Given the description of an element on the screen output the (x, y) to click on. 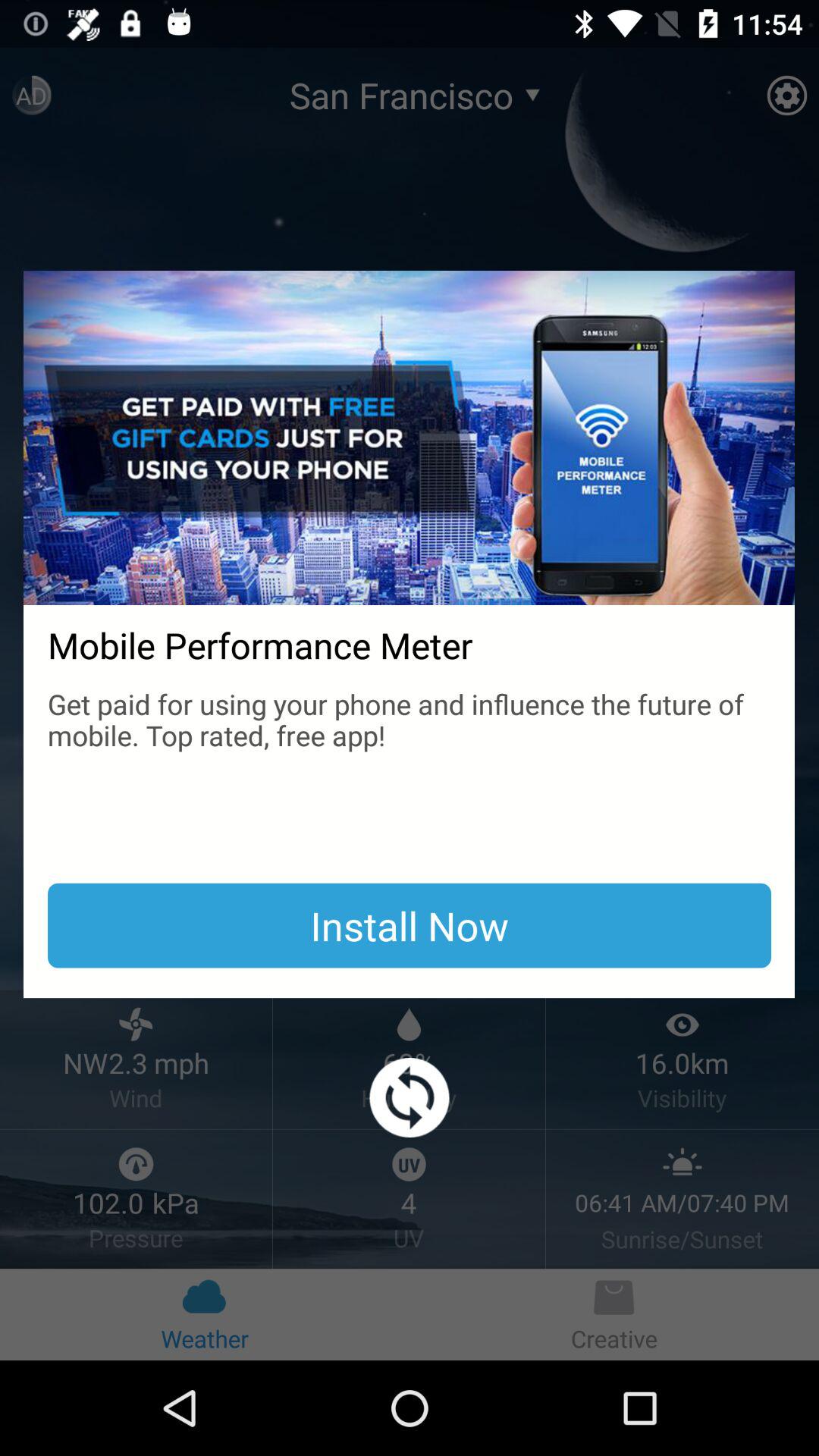
jump until install now item (409, 925)
